Given the description of an element on the screen output the (x, y) to click on. 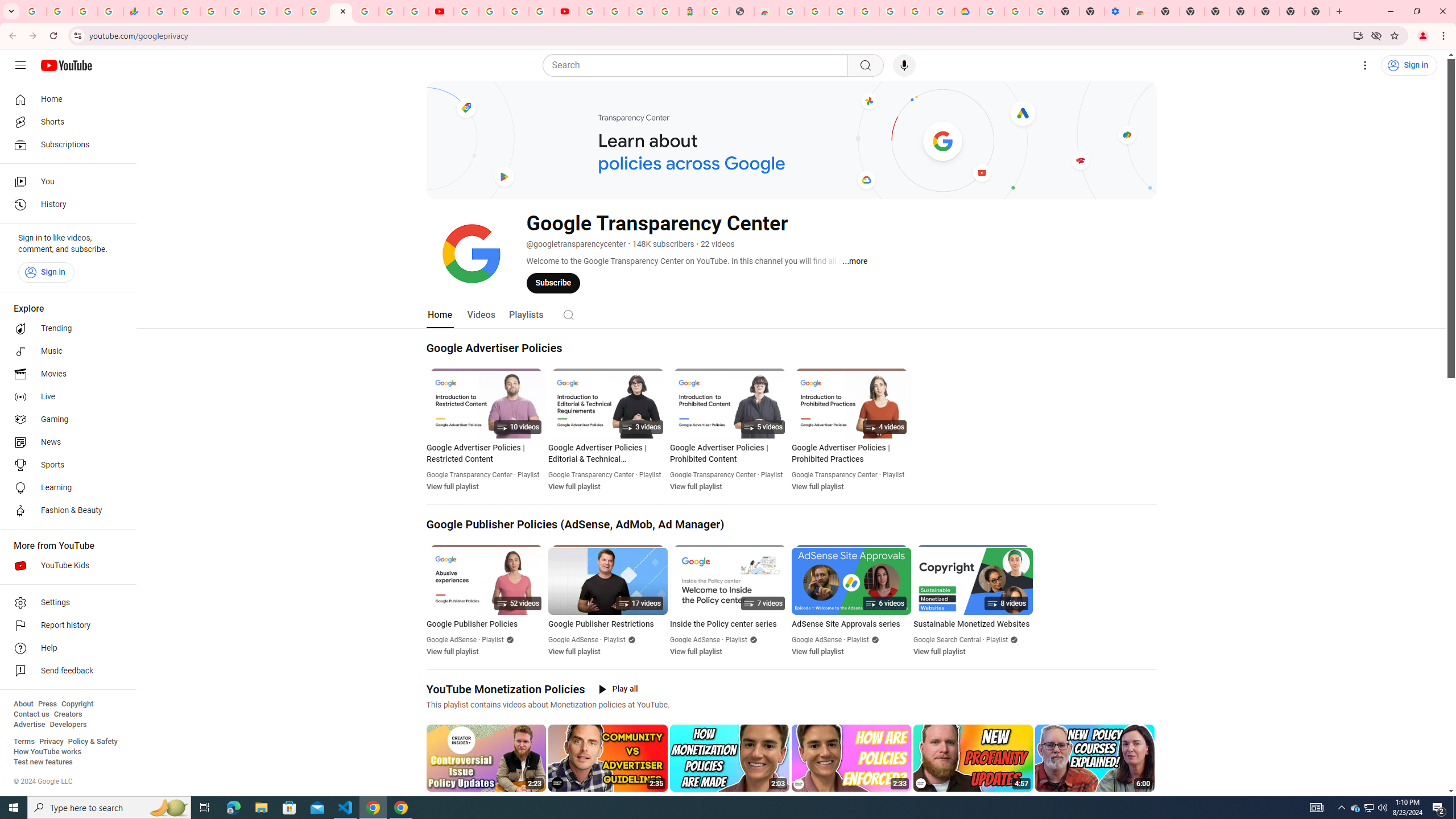
Google Advertiser Policies | Prohibited Practices (850, 453)
YouTube Kids (64, 565)
History (64, 204)
News (64, 441)
Help (64, 648)
Google Workspace Admin Community (34, 11)
Settings (64, 602)
Search with your voice (903, 65)
Android TV Policies and Guidelines - Transparency Center (315, 11)
Guide (20, 65)
